Given the description of an element on the screen output the (x, y) to click on. 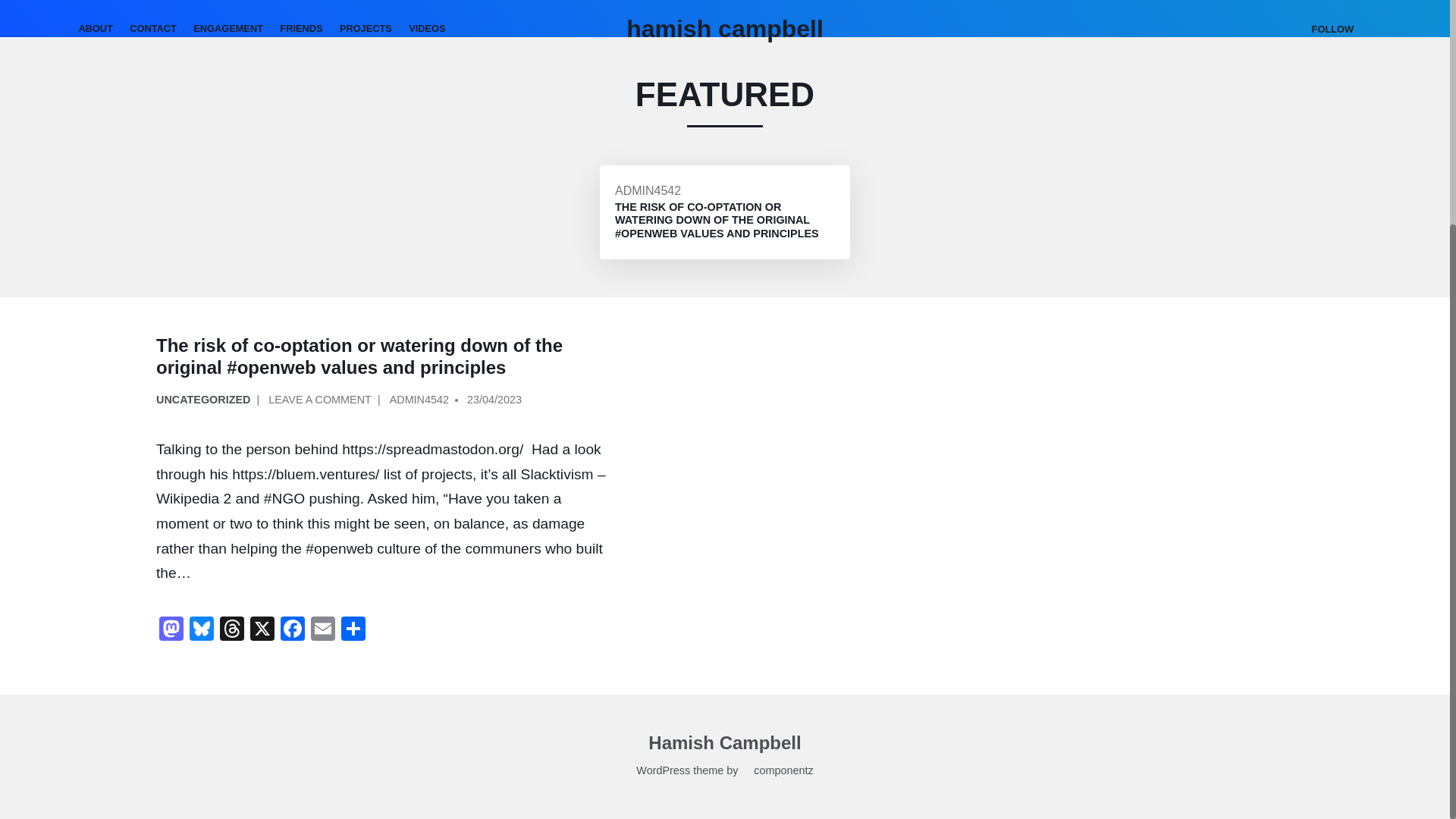
WordPress (663, 772)
componentz (776, 772)
Facebook (292, 630)
Bluesky (201, 630)
Email (322, 630)
X (262, 630)
Mastodon (170, 630)
Hamish Campbell (723, 745)
Threads (231, 630)
